Given the description of an element on the screen output the (x, y) to click on. 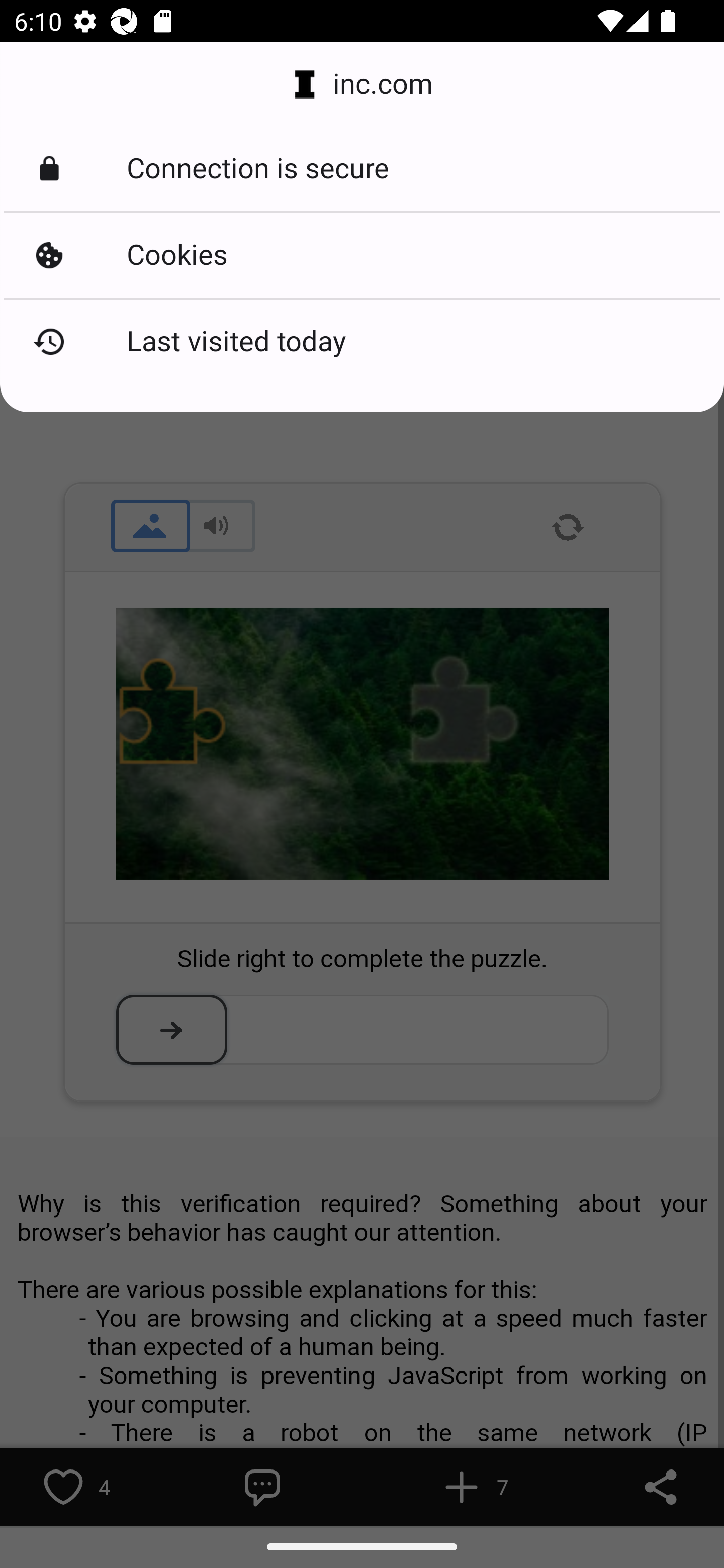
inc.com (362, 84)
Connection is secure (362, 169)
Cookies (362, 255)
Last visited today (362, 341)
